Given the description of an element on the screen output the (x, y) to click on. 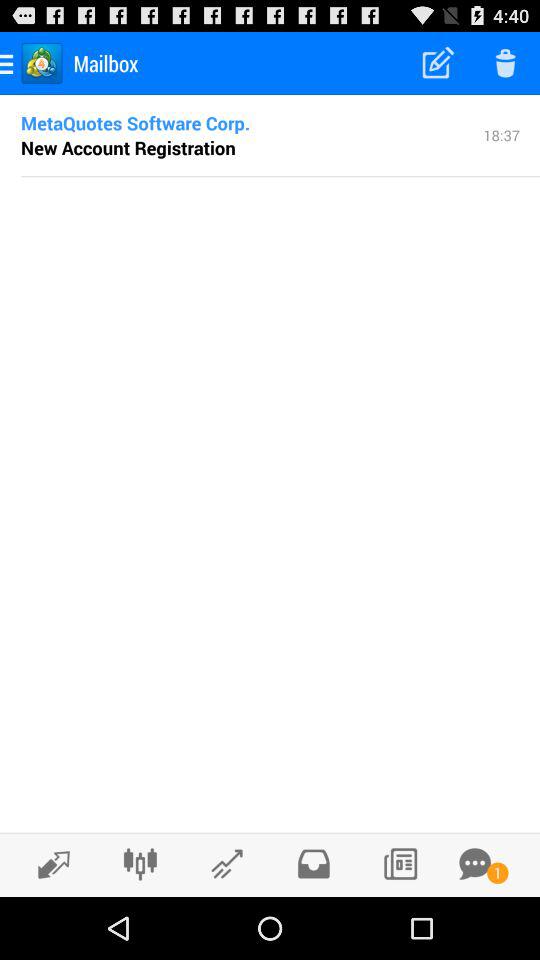
send or receive (48, 864)
